Given the description of an element on the screen output the (x, y) to click on. 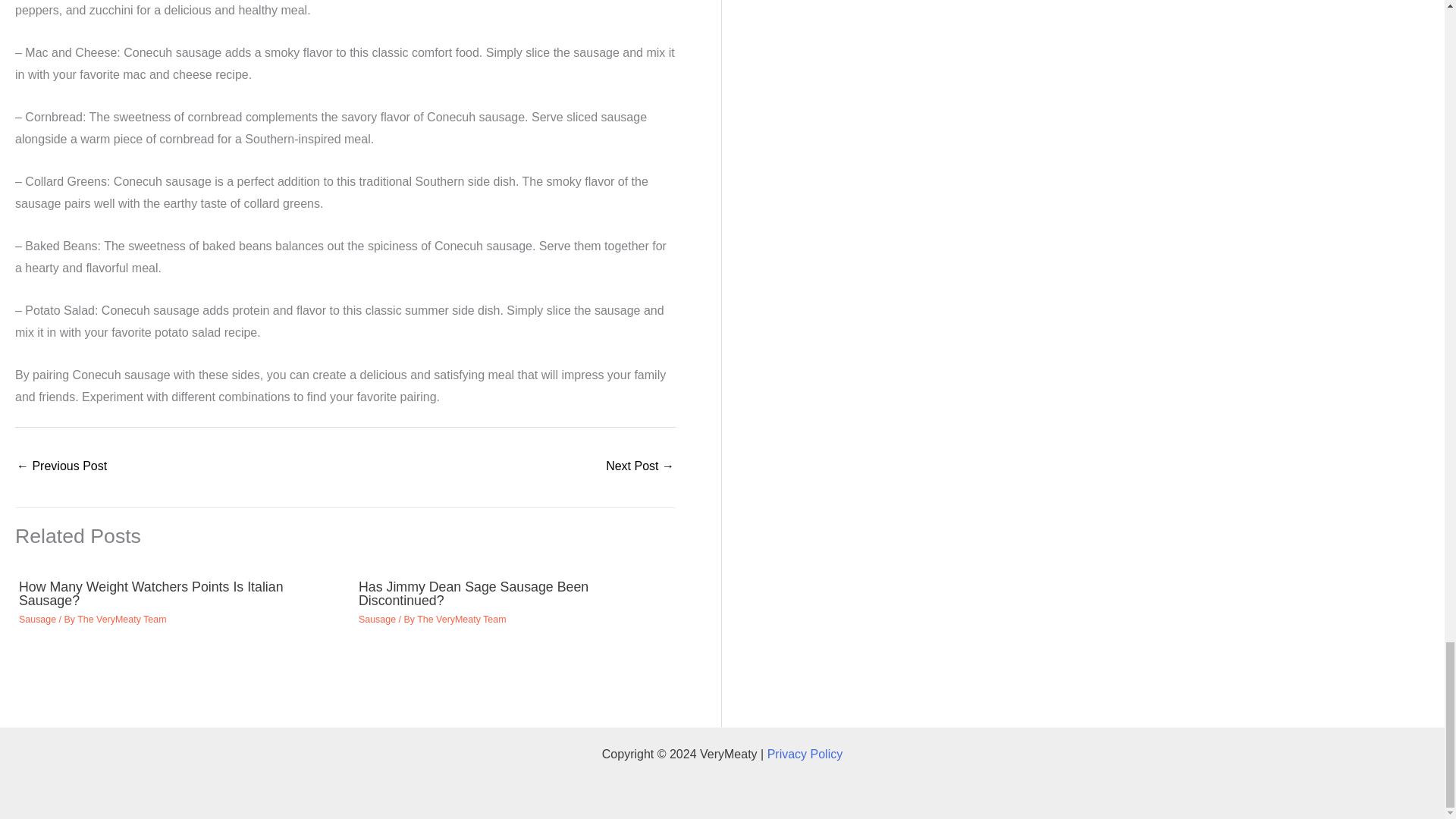
Privacy Policy (805, 753)
View all posts by The VeryMeaty Team (460, 619)
The VeryMeaty Team (460, 619)
View all posts by The VeryMeaty Team (121, 619)
How Many Weight Watchers Points Is Italian Sausage? (150, 593)
Sausage (377, 619)
Has Jimmy Dean Sage Sausage Been Discontinued? (473, 593)
Can You Slow Cook Lamb And Beef Together? The Full Guide (61, 467)
Sausage (37, 619)
The VeryMeaty Team (121, 619)
